Given the description of an element on the screen output the (x, y) to click on. 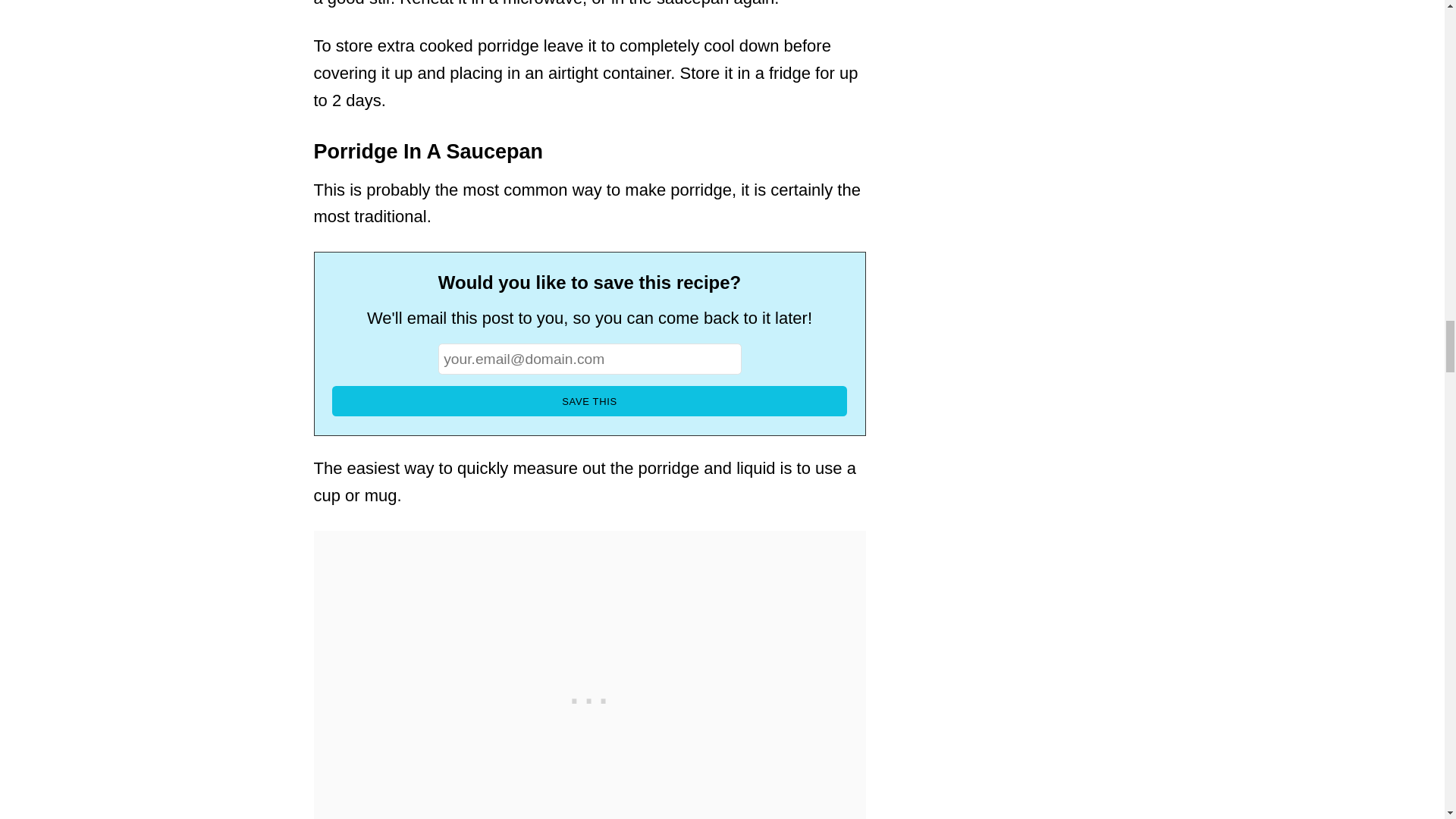
Save This (589, 400)
